Given the description of an element on the screen output the (x, y) to click on. 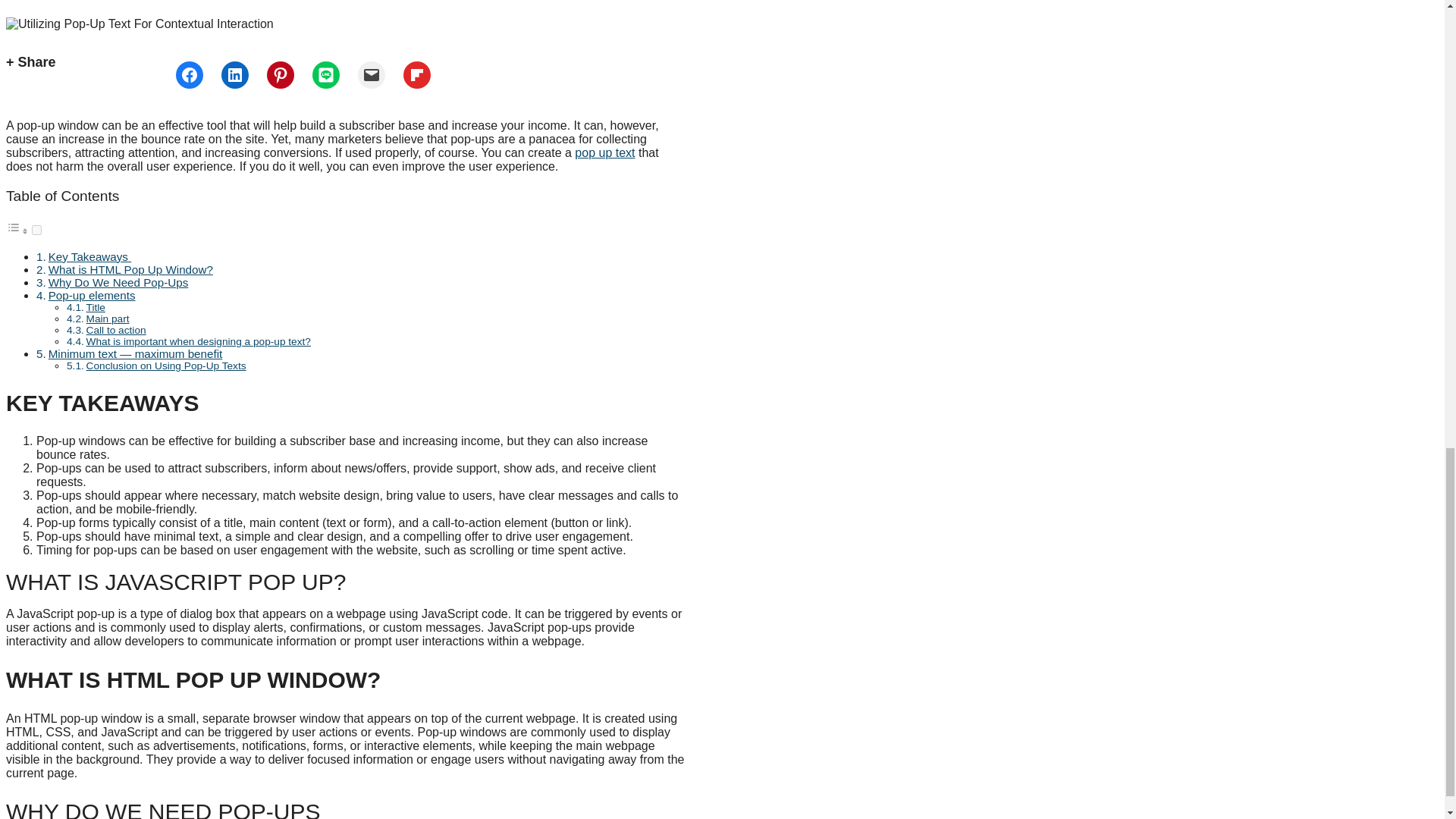
Why Do We Need Pop-Ups (118, 282)
on (37, 230)
What is important when designing a pop-up text? (198, 341)
WHAT IS JAVASCRIPT POP UP? (345, 582)
Conclusion on Using Pop-Up Texts (165, 365)
Utilizing Pop-Up Text For Contextual Interaction 1 (139, 23)
Call to action (116, 329)
WHAT IS JAVASCRIPT POP UP? (345, 582)
Main part (107, 318)
What is HTML Pop Up Window? (130, 269)
